Given the description of an element on the screen output the (x, y) to click on. 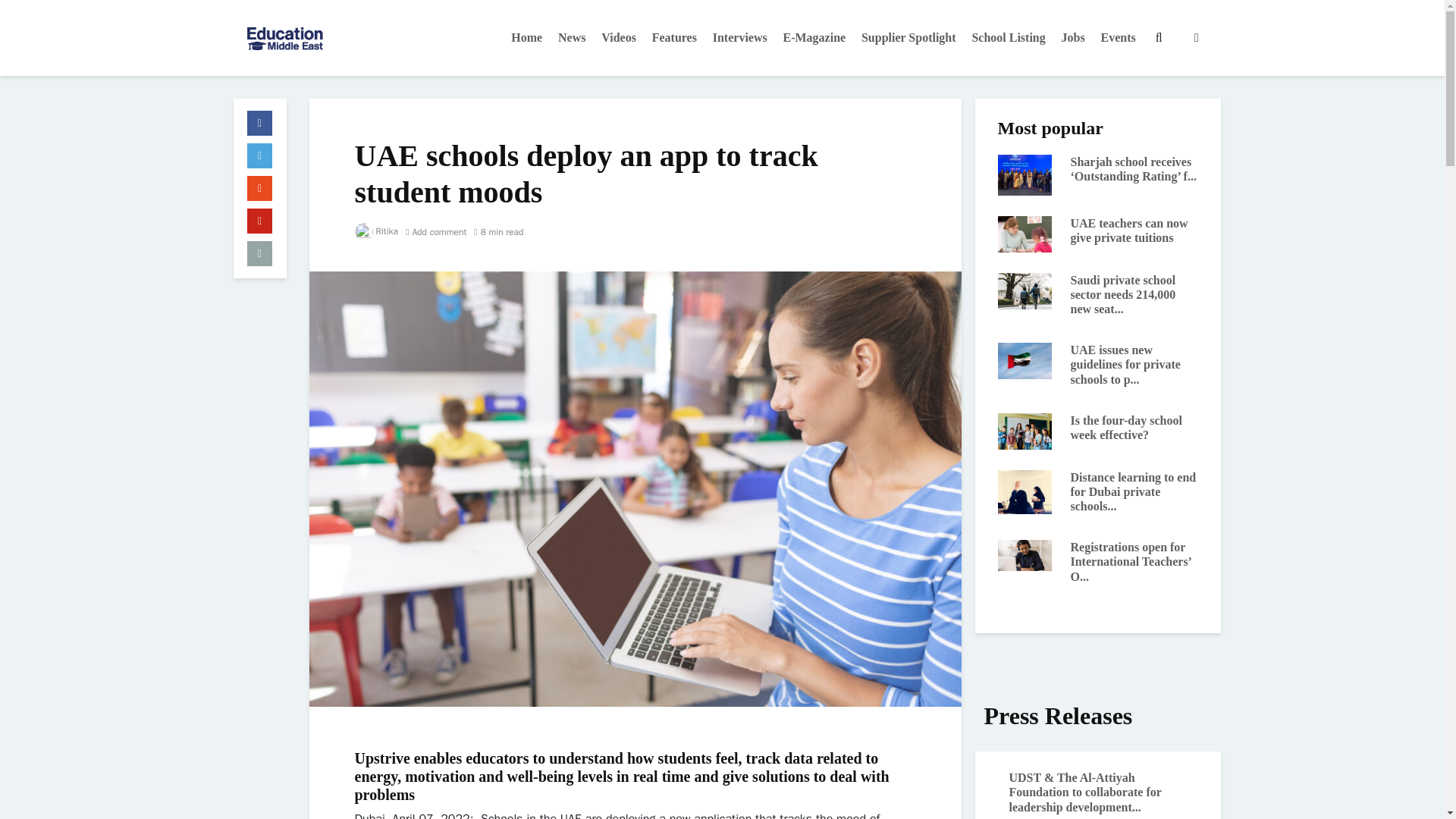
Interviews (739, 37)
UAE teachers can now give private tuitions (1024, 232)
Jobs (1072, 37)
E-Magazine (813, 37)
News (571, 37)
School Listing (1008, 37)
Supplier Spotlight (909, 37)
Videos (618, 37)
Saudi private school sector needs 214,000 new seats (1024, 289)
